Given the description of an element on the screen output the (x, y) to click on. 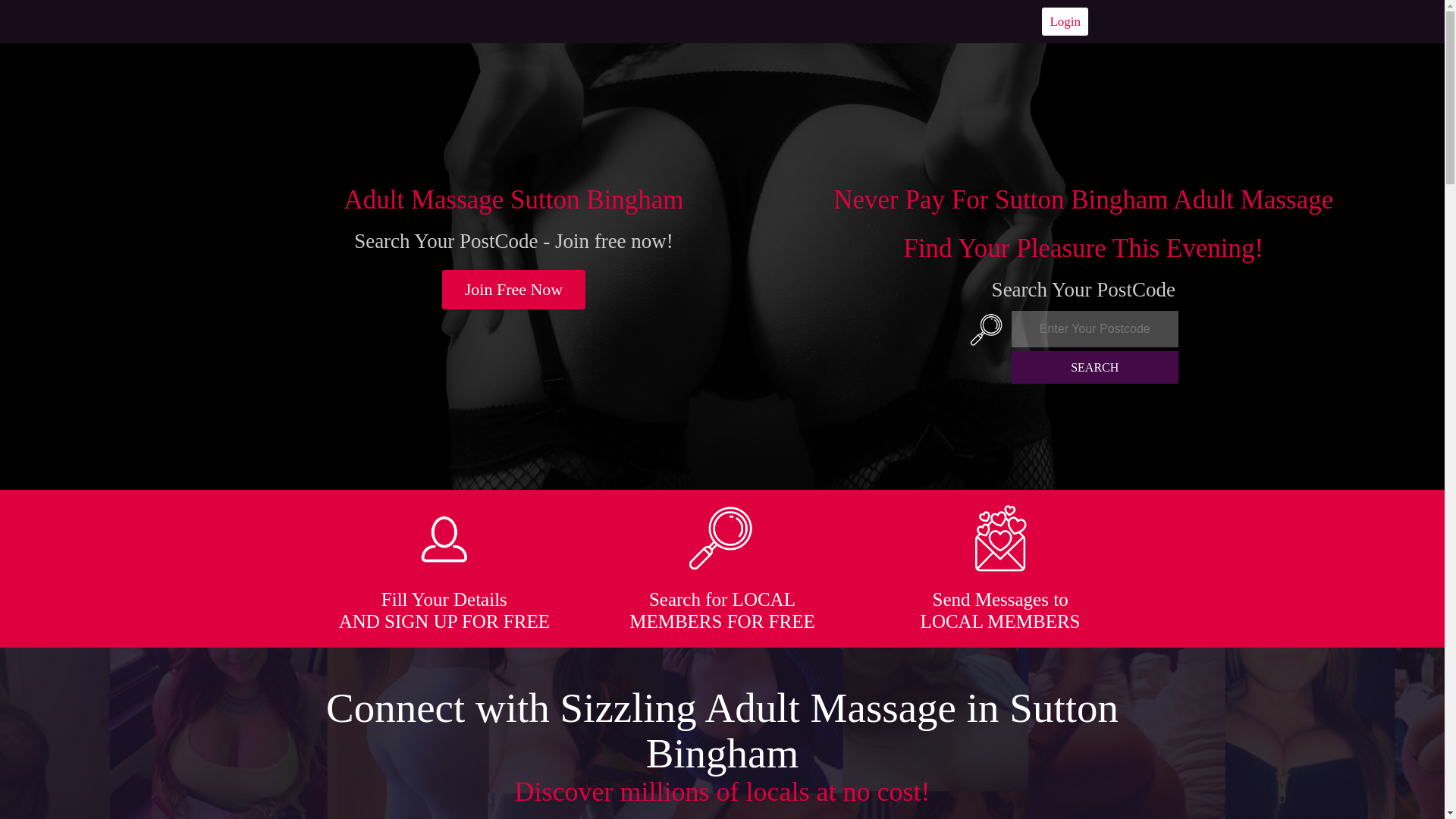
SEARCH (1094, 367)
Join Free Now (514, 289)
Join (514, 289)
Login (1064, 21)
Login (1064, 21)
